Given the description of an element on the screen output the (x, y) to click on. 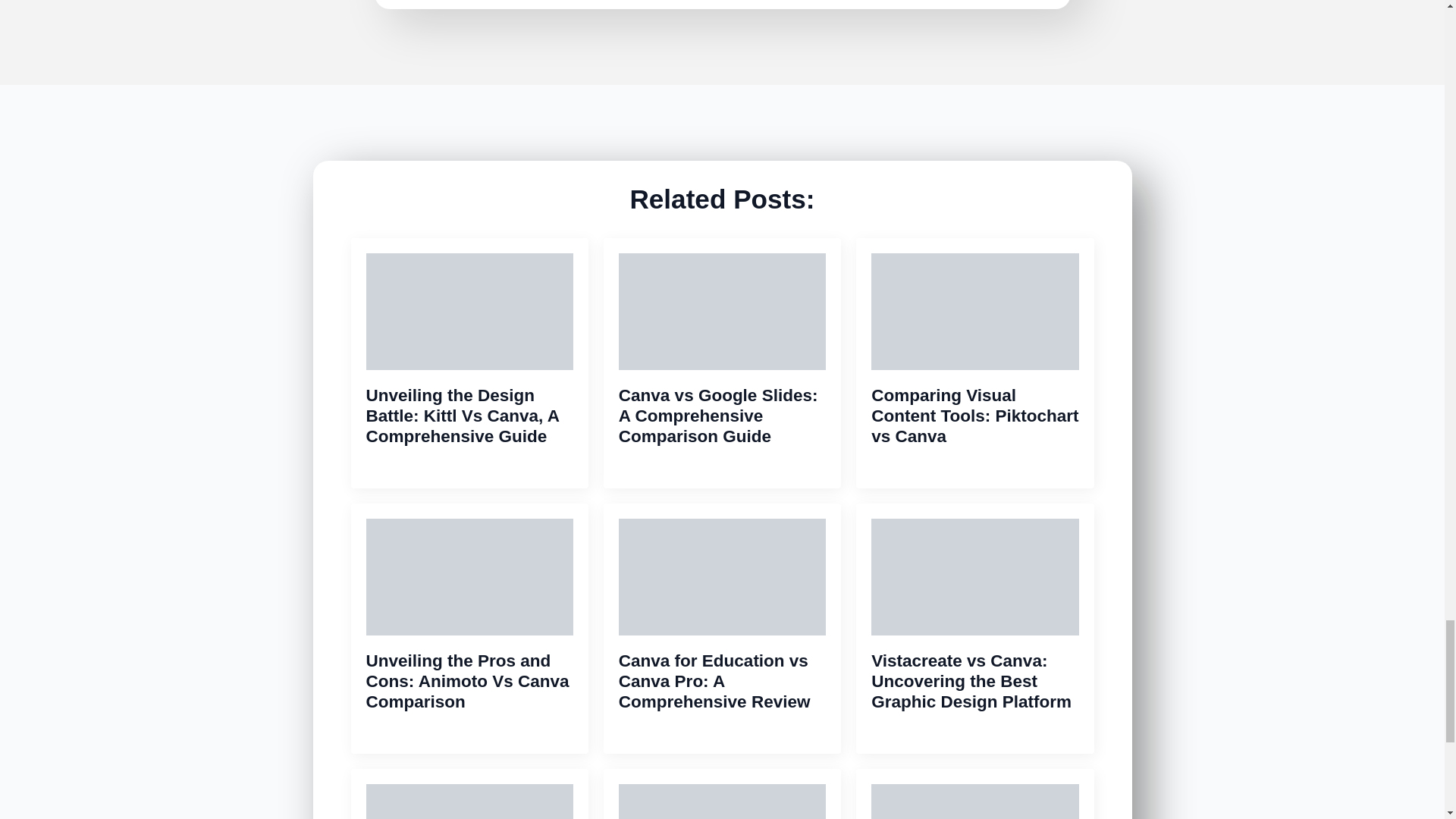
Comparing Visual Content Tools: Piktochart vs Canva (974, 415)
Canva for Education vs Canva Pro: A Comprehensive Review (721, 680)
Unveiling the Pros and Cons: Animoto Vs Canva Comparison (468, 680)
Canva vs Google Slides: A Comprehensive Comparison Guide (721, 415)
